Given the description of an element on the screen output the (x, y) to click on. 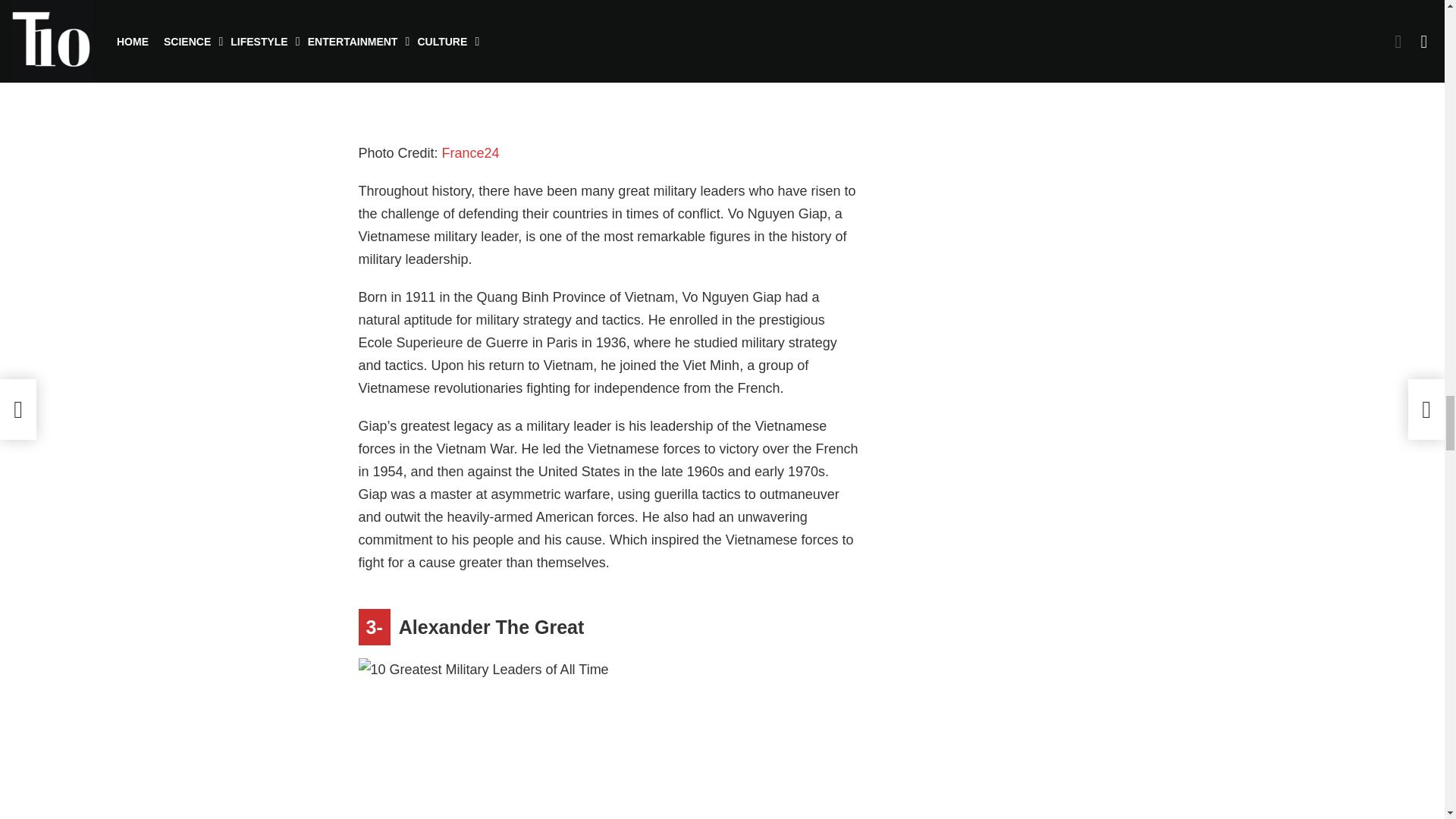
France24 (470, 152)
